Given the description of an element on the screen output the (x, y) to click on. 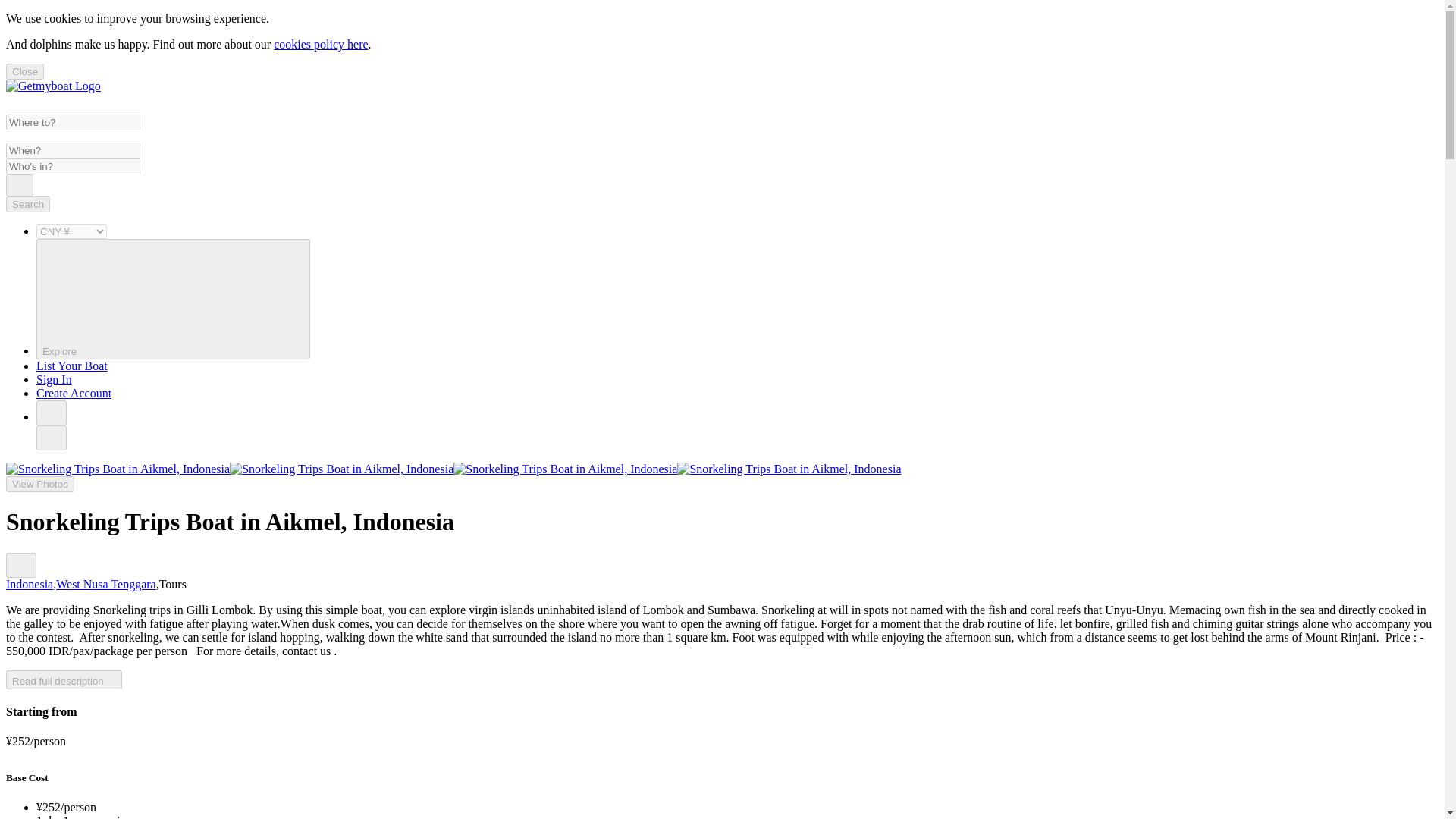
List Your Boat (71, 365)
Sign In (53, 379)
Read full description (63, 679)
Search (27, 204)
Indonesia (28, 584)
Create Account (74, 392)
Explore (173, 299)
Search (19, 185)
West Nusa Tenggara (105, 584)
cookies policy here (320, 43)
